Given the description of an element on the screen output the (x, y) to click on. 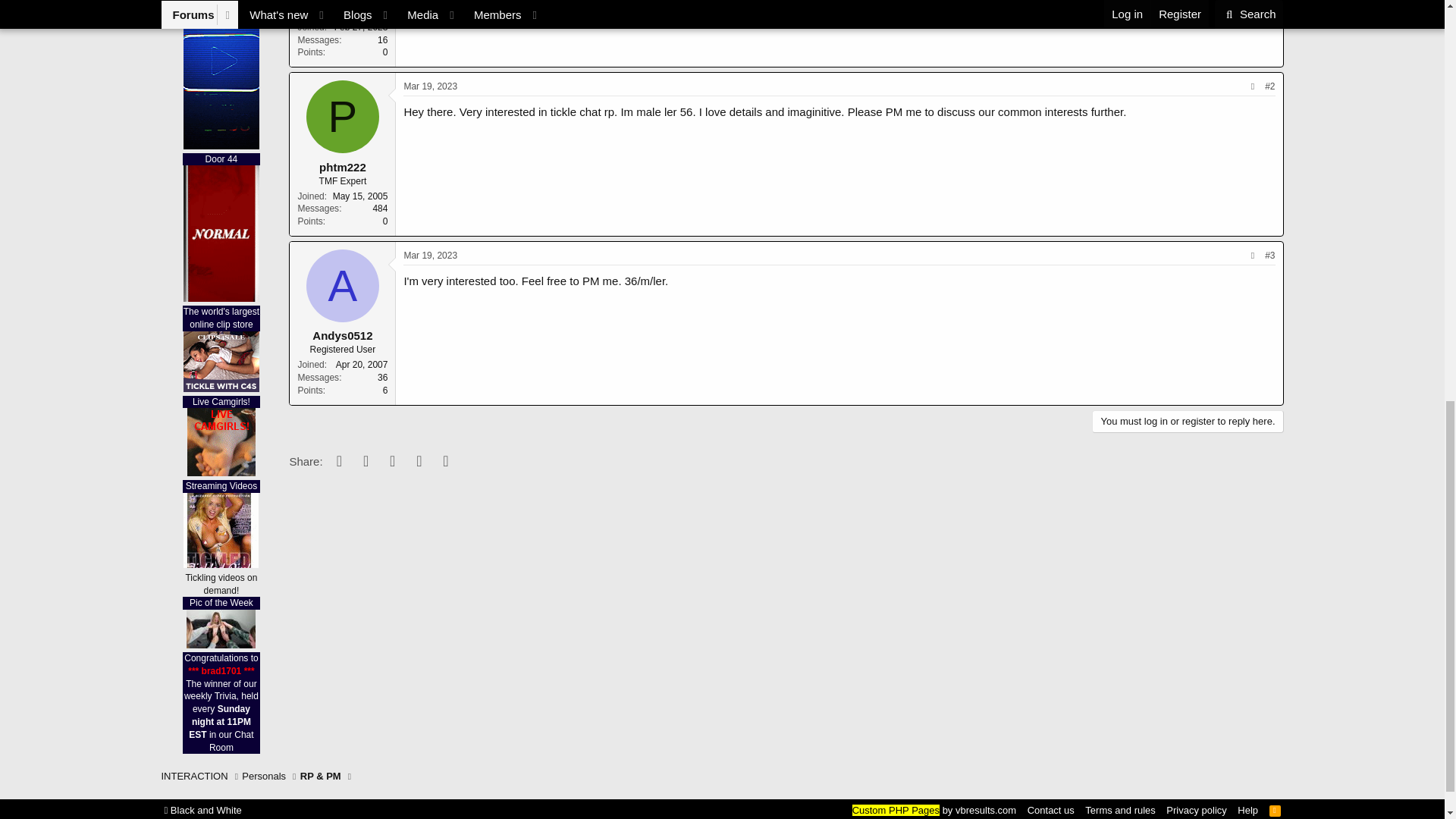
Mar 19, 2023 at 9:23 AM (430, 86)
Mar 19, 2023 at 8:03 PM (430, 255)
RSS (1275, 810)
